Given the description of an element on the screen output the (x, y) to click on. 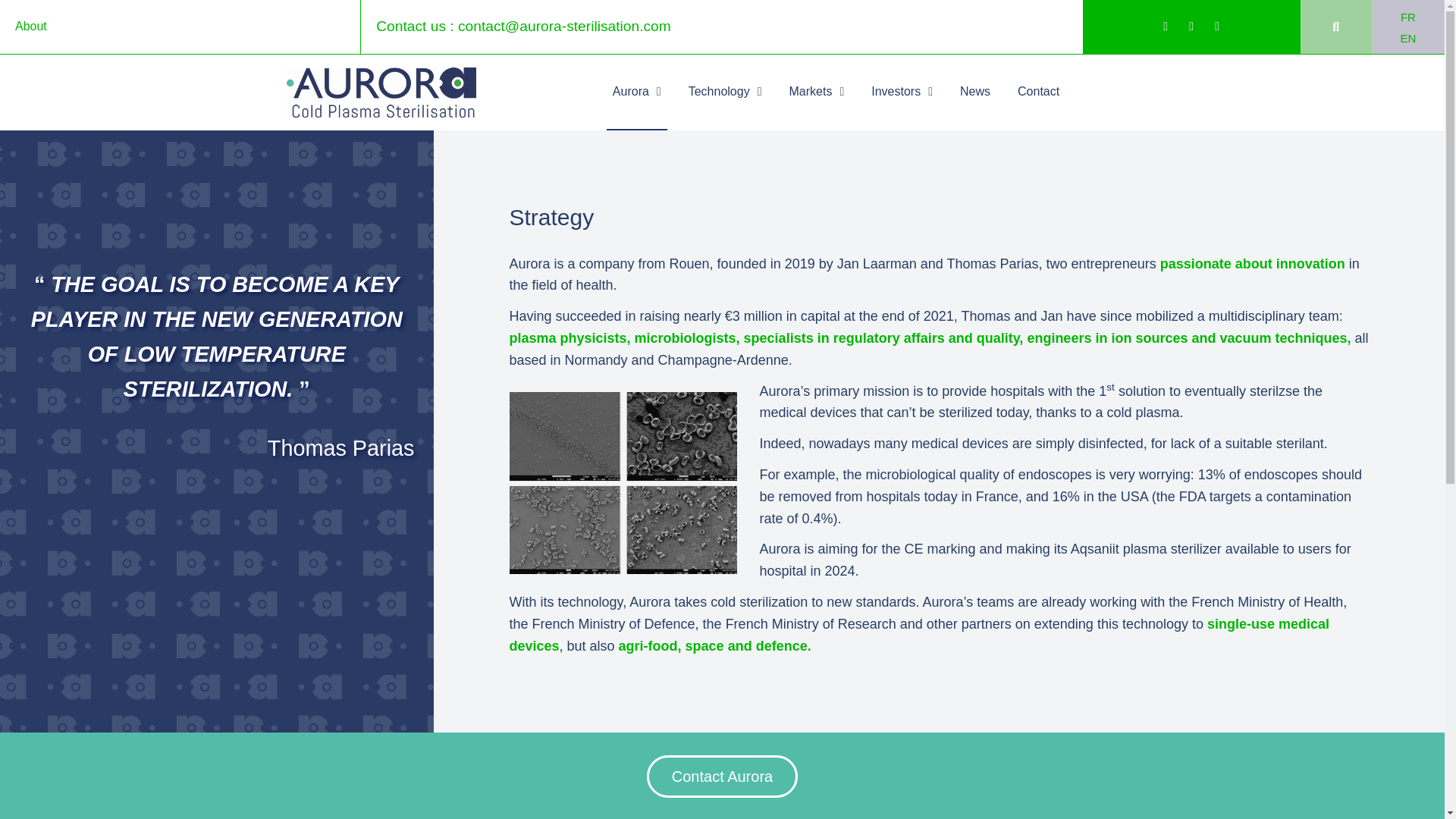
Markets (816, 92)
Technology (725, 92)
About (30, 25)
EN (1407, 37)
FR (1408, 16)
Investors (901, 92)
Contact Aurora (721, 776)
